Given the description of an element on the screen output the (x, y) to click on. 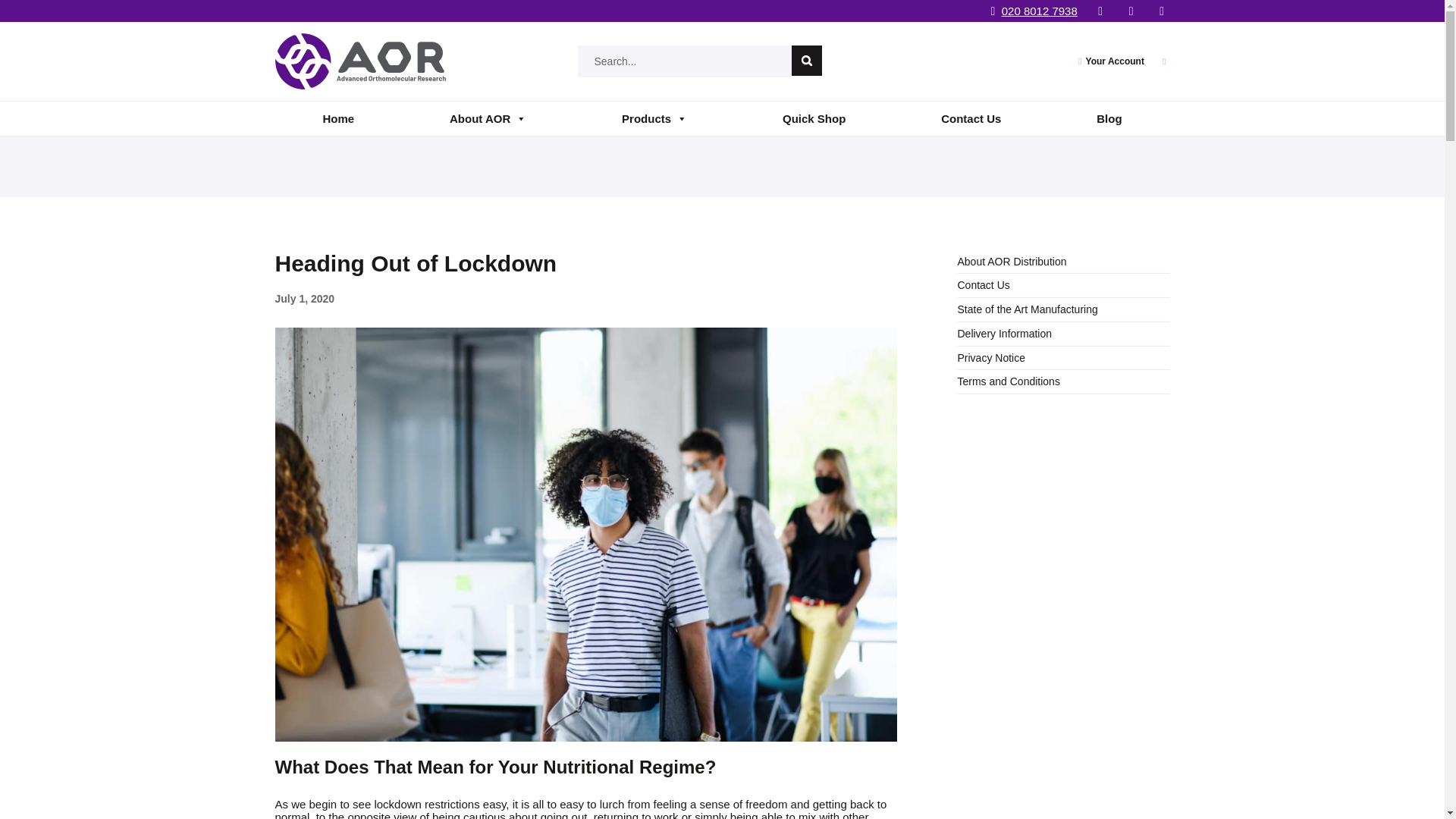
Quick Shop (814, 118)
About AOR (487, 118)
Contact Us (970, 118)
Your Account (1115, 61)
Blog (1108, 118)
Follow us on Twitter (1130, 10)
Search (807, 60)
Products (654, 118)
Home (338, 118)
Search (807, 60)
